Given the description of an element on the screen output the (x, y) to click on. 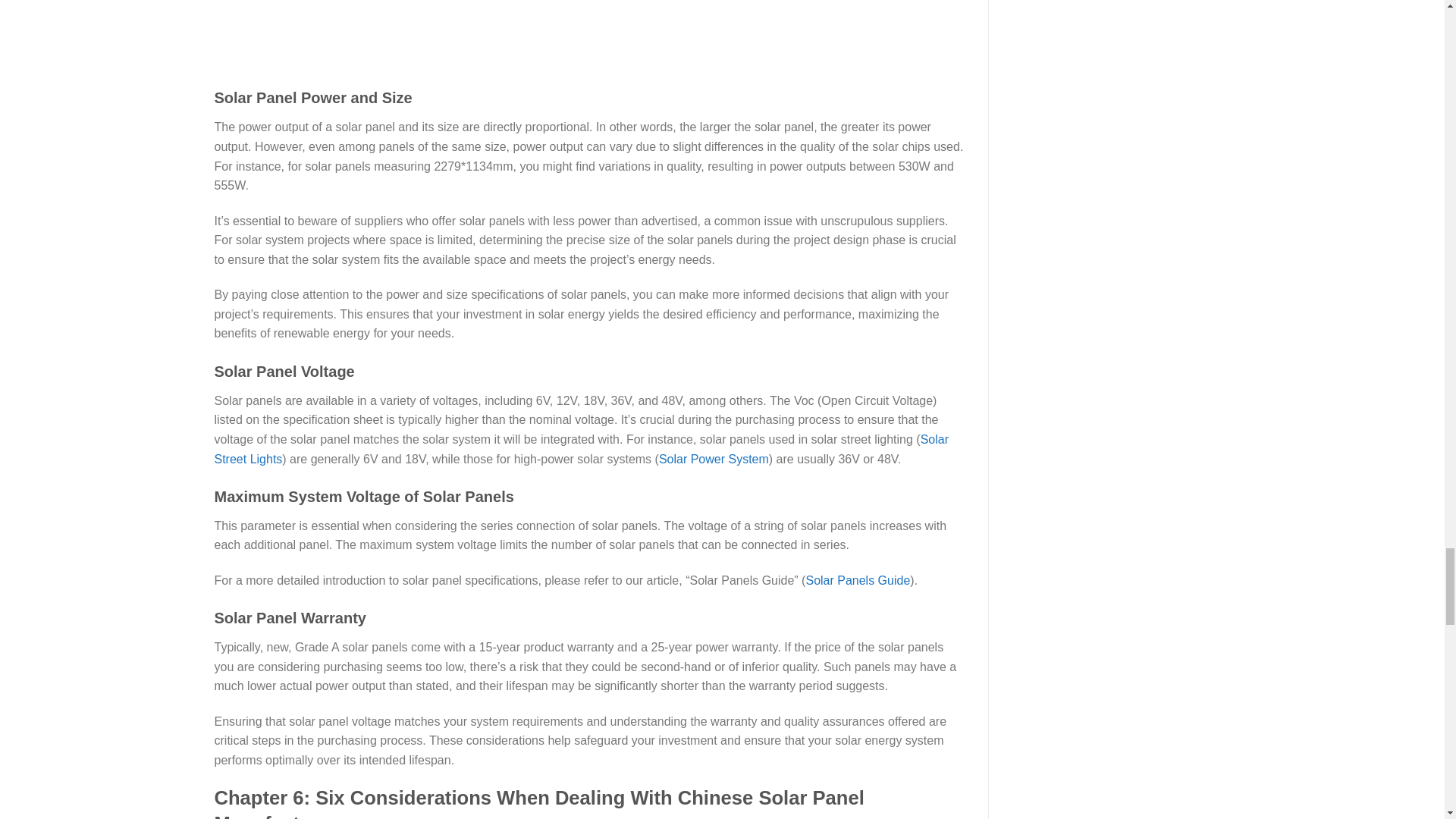
Solar Street Lights (581, 449)
Solar Power System (713, 458)
Solar Panels Guide (857, 580)
